Given the description of an element on the screen output the (x, y) to click on. 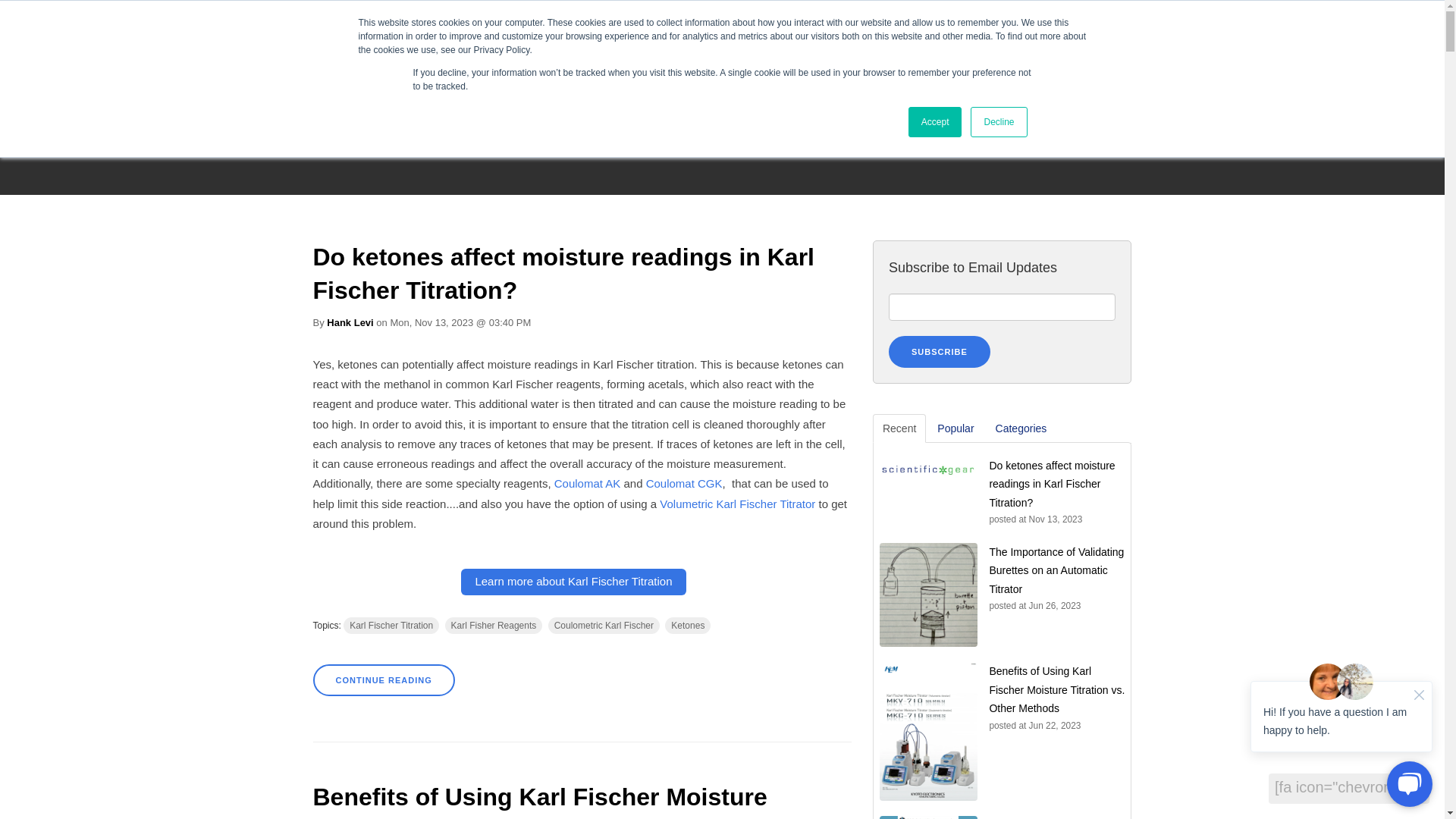
Decline (998, 122)
Subscribe (939, 350)
Coulometric Karl Fischer (603, 625)
Karl Fisher Reagents (494, 625)
Ketones (687, 625)
Learn more about Karl Fischer Titration (573, 581)
Accept (935, 122)
CONTINUE READING (383, 680)
PRODUCTS (947, 33)
INDUSTRIES (765, 33)
Hank Levi (349, 322)
Coulomat CGK (684, 482)
Coulomat AK (587, 482)
sglogo.jpg (371, 30)
